Given the description of an element on the screen output the (x, y) to click on. 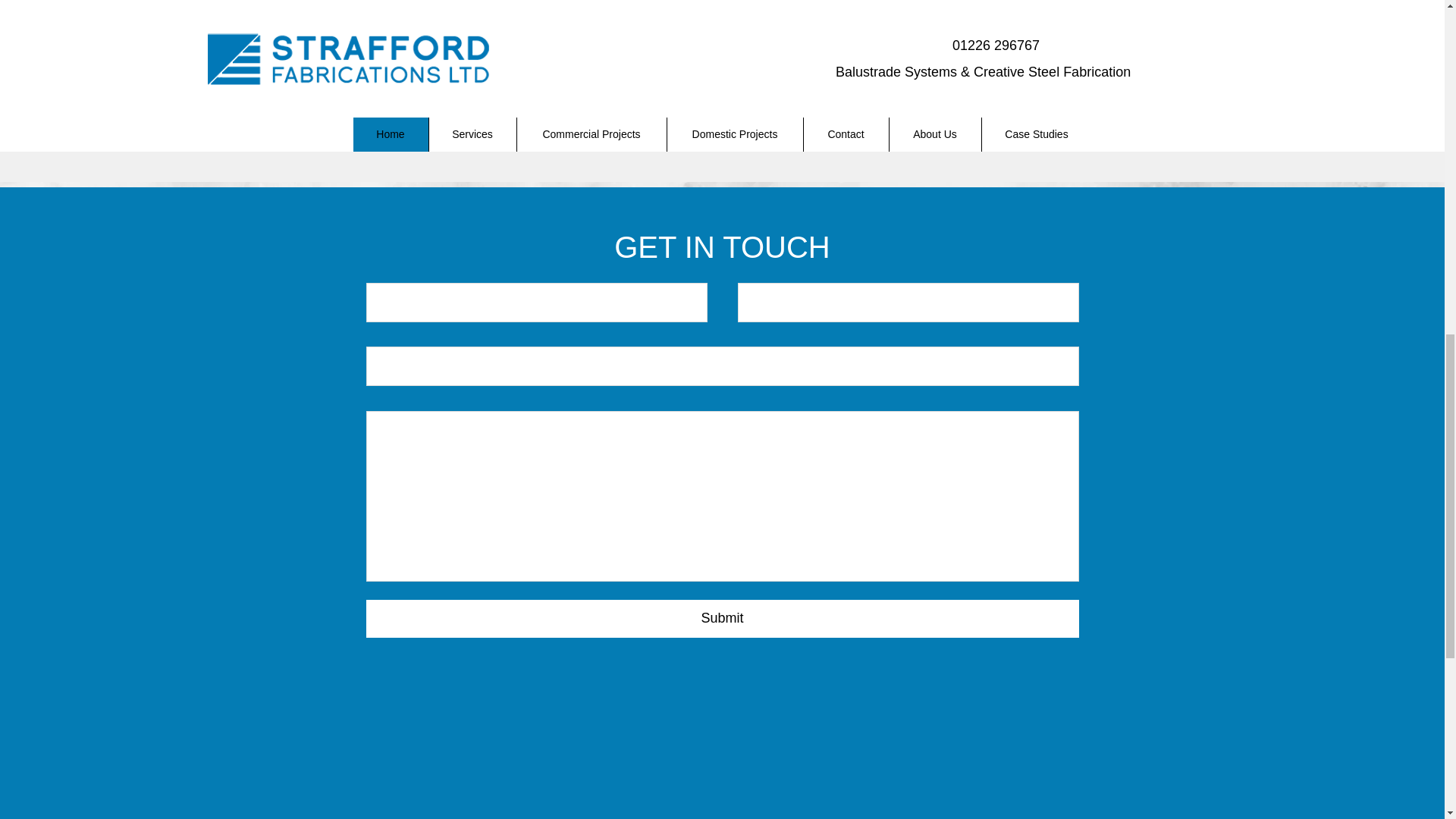
Submit (721, 618)
